Given the description of an element on the screen output the (x, y) to click on. 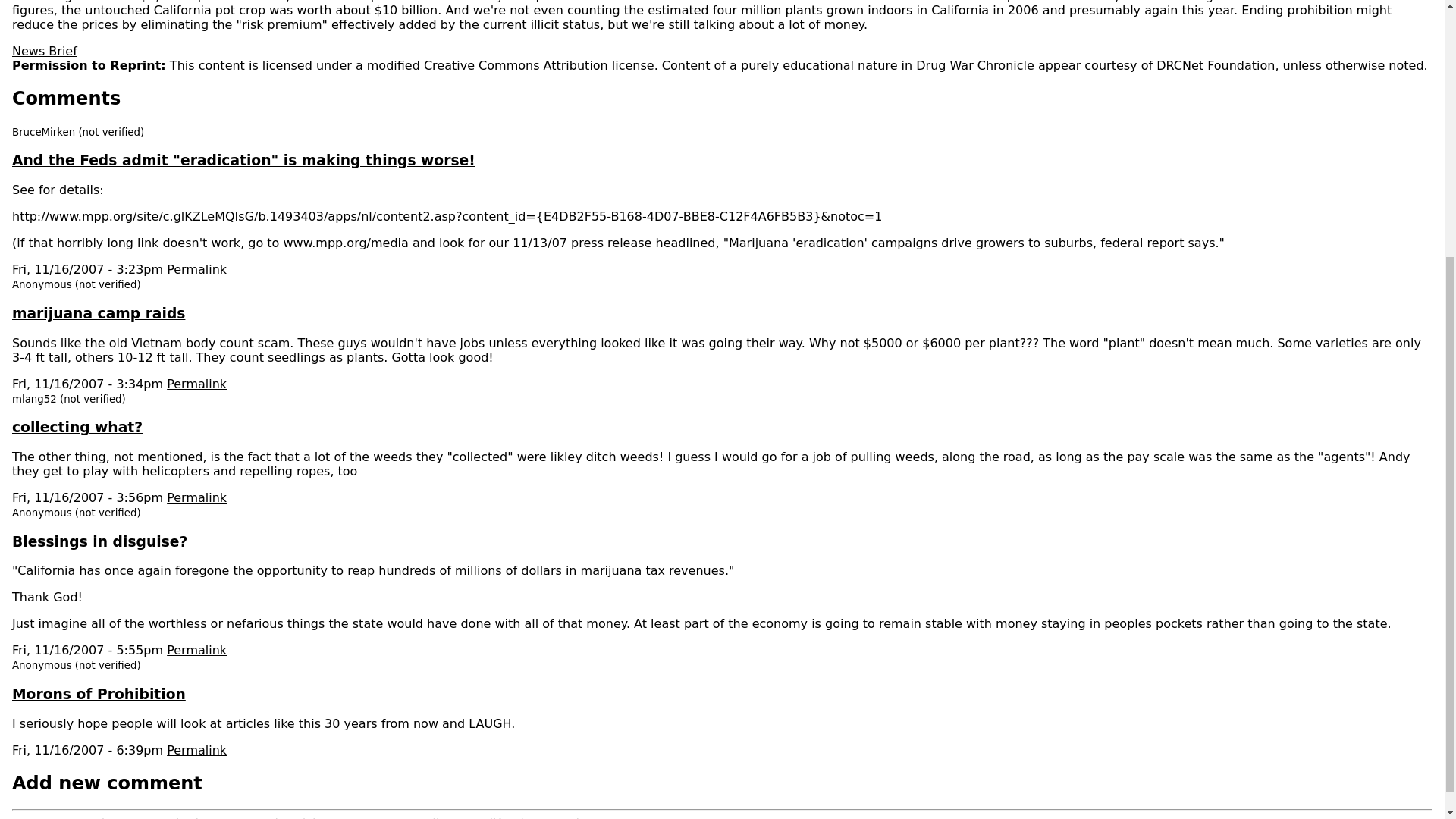
Permalink (197, 649)
Permalink (197, 749)
News Brief (44, 51)
Morons of Prohibition (98, 693)
collecting what? (76, 426)
marijuana camp raids (97, 313)
Creative Commons Attribution license (538, 65)
Permalink (197, 269)
Permalink (197, 497)
Permalink (197, 383)
Blessings in disguise? (99, 541)
And the Feds admit "eradication" is making things worse! (243, 160)
